Given the description of an element on the screen output the (x, y) to click on. 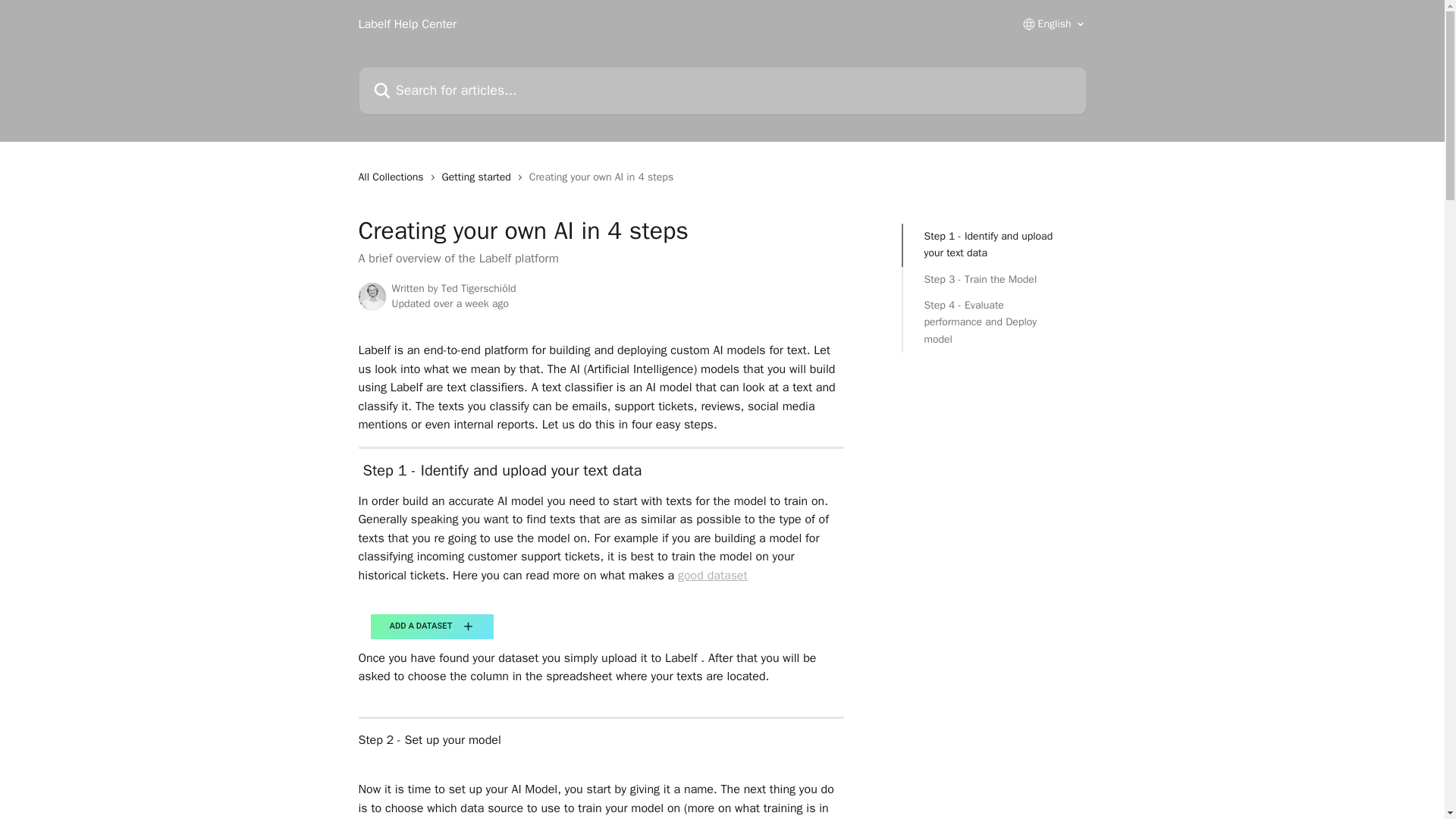
good dataset (713, 575)
Step 1 - Identify and upload your text data (993, 245)
Step 4 - Evaluate performance and Deploy model (993, 322)
All Collections (393, 176)
Getting started (479, 176)
Step 3 - Train the Model (993, 279)
